Given the description of an element on the screen output the (x, y) to click on. 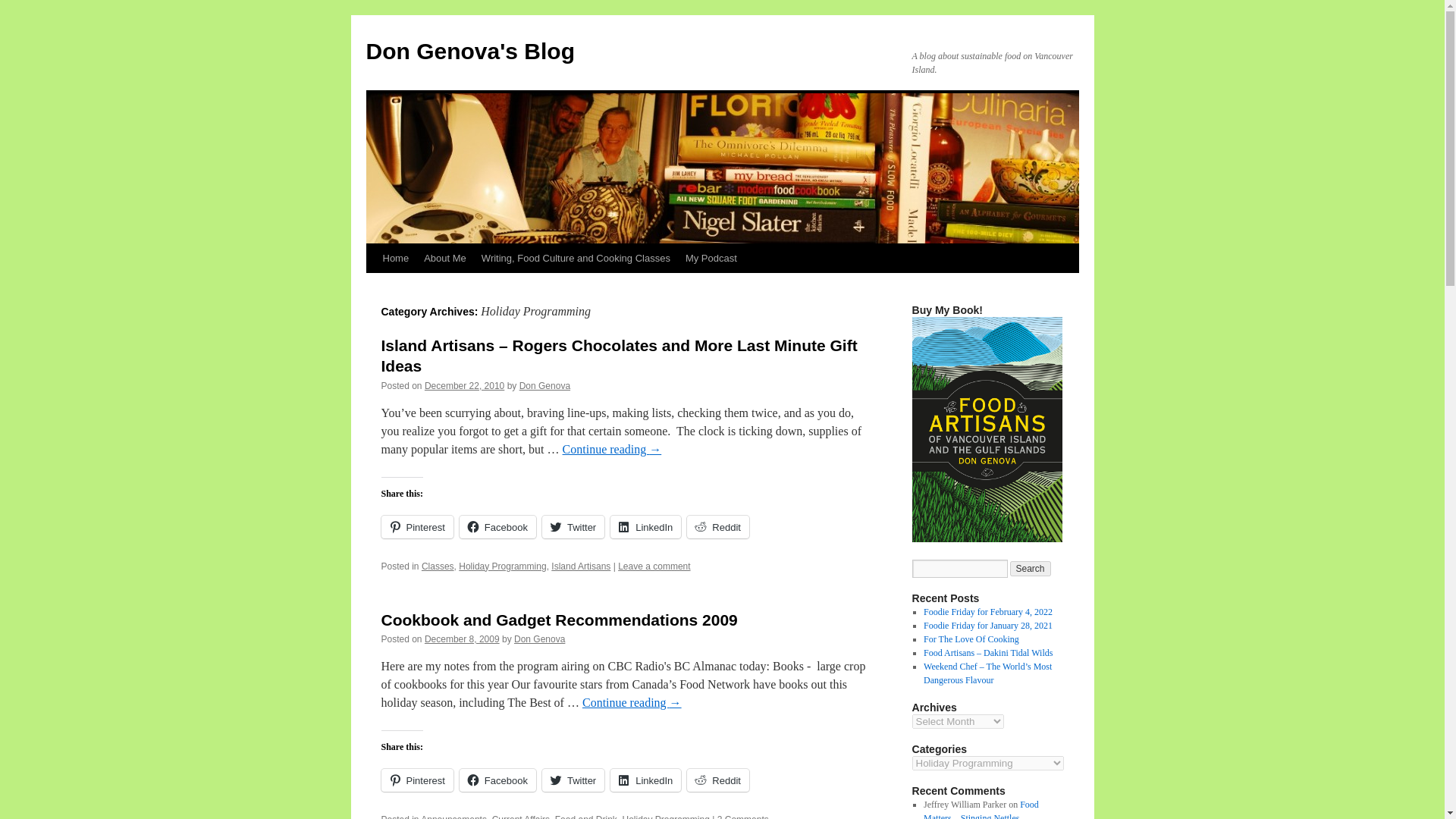
2 Comments (742, 816)
Announcements (453, 816)
Click to share on Facebook (497, 526)
Holiday Programming (665, 816)
Don Genova (544, 385)
LinkedIn (645, 526)
Search (1030, 568)
Click to share on Twitter (572, 526)
Home (395, 258)
Pinterest (416, 780)
5:29 pm (464, 385)
View all posts by Don Genova (544, 385)
Classes (438, 566)
Click to share on LinkedIn (645, 780)
Writing, Food Culture and Cooking Classes (576, 258)
